Given the description of an element on the screen output the (x, y) to click on. 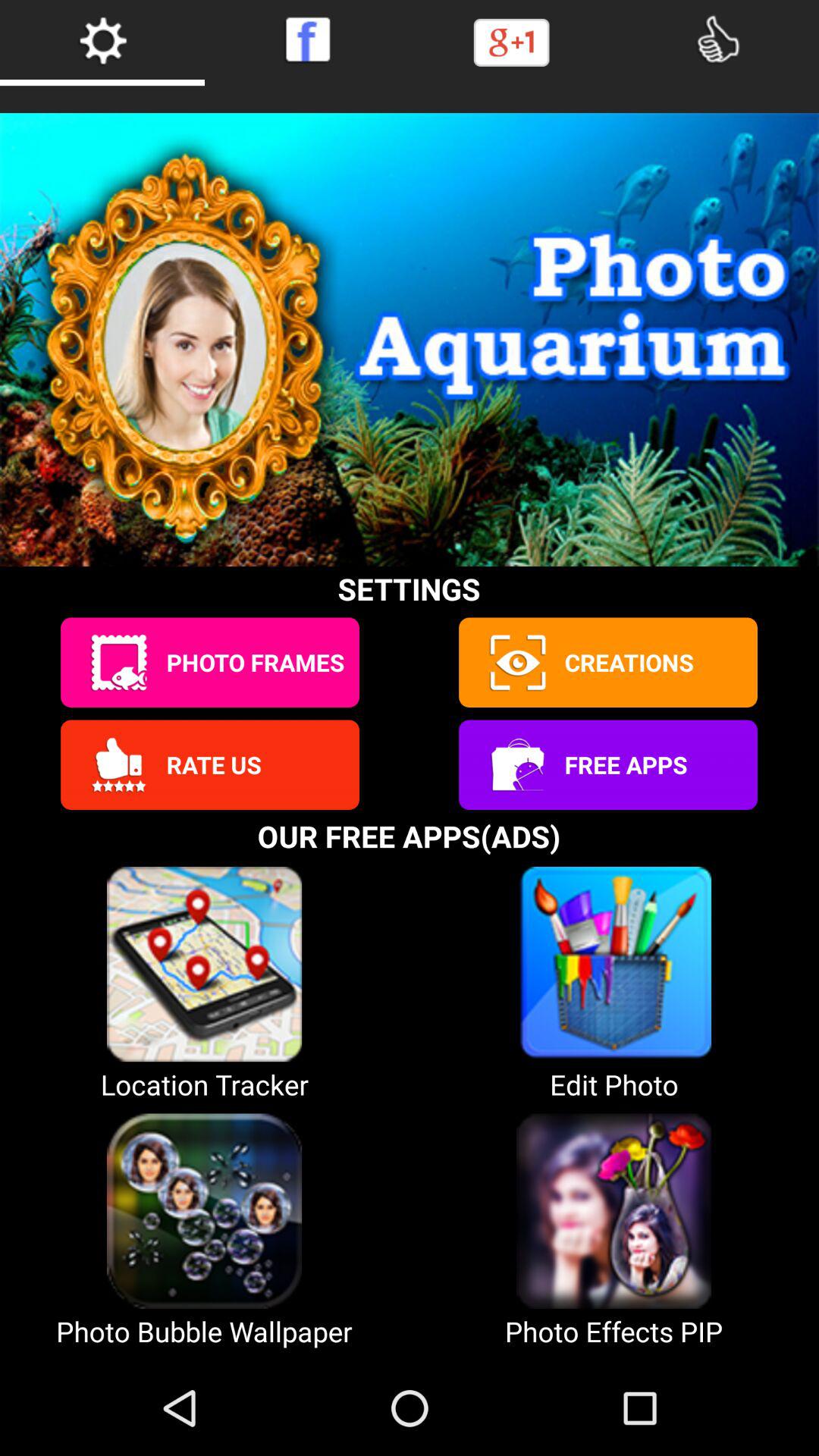
creations (516, 662)
